Given the description of an element on the screen output the (x, y) to click on. 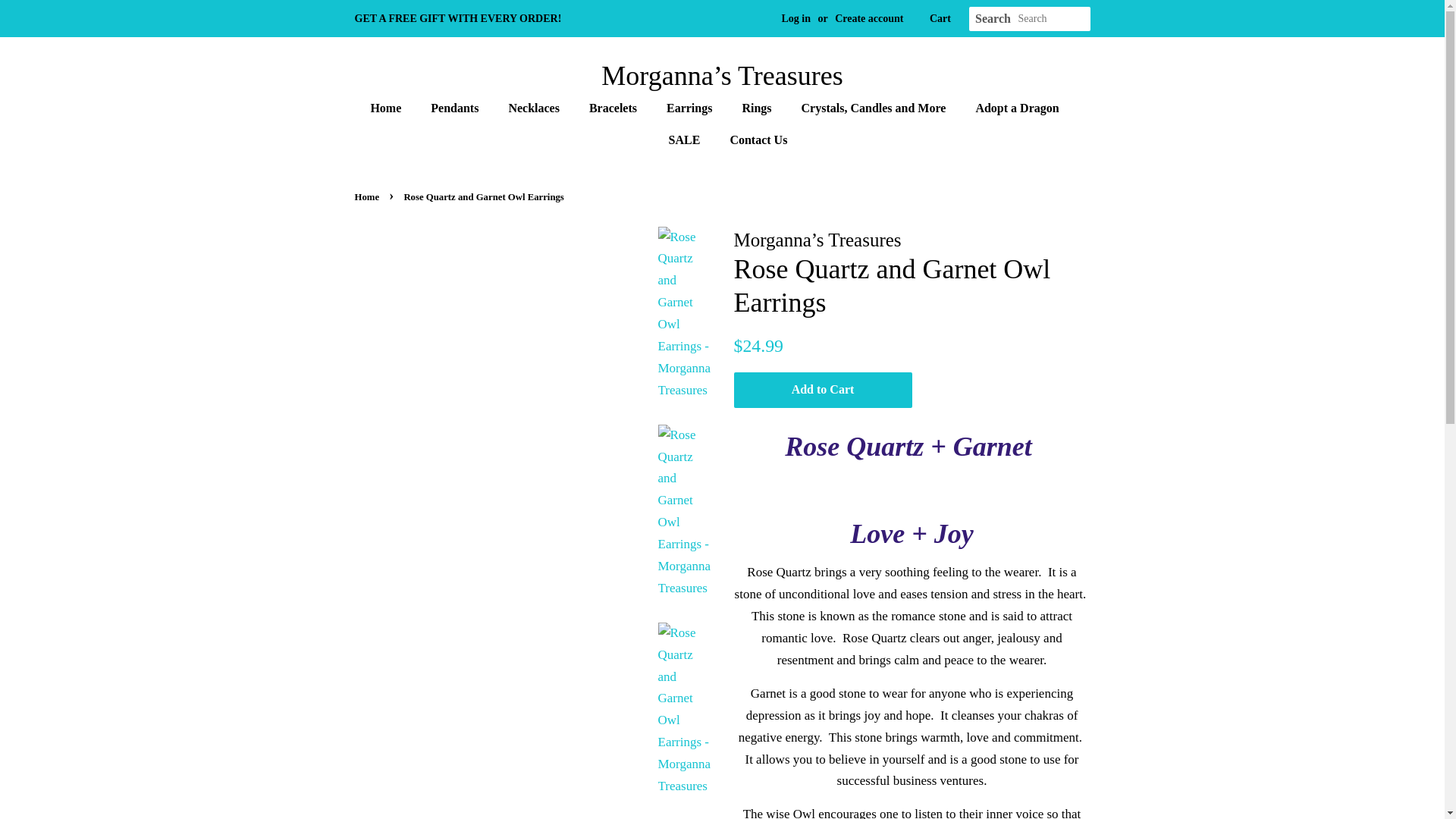
Pendants (456, 107)
SALE (687, 139)
Adopt a Dragon (1018, 107)
Necklaces (535, 107)
Back to the frontpage (369, 196)
Add to Cart (822, 389)
Crystals, Candles and More (875, 107)
Contact Us (752, 139)
Bracelets (615, 107)
Home (392, 107)
Search (993, 18)
Cart (940, 18)
Earrings (690, 107)
Create account (868, 18)
Rings (758, 107)
